Given the description of an element on the screen output the (x, y) to click on. 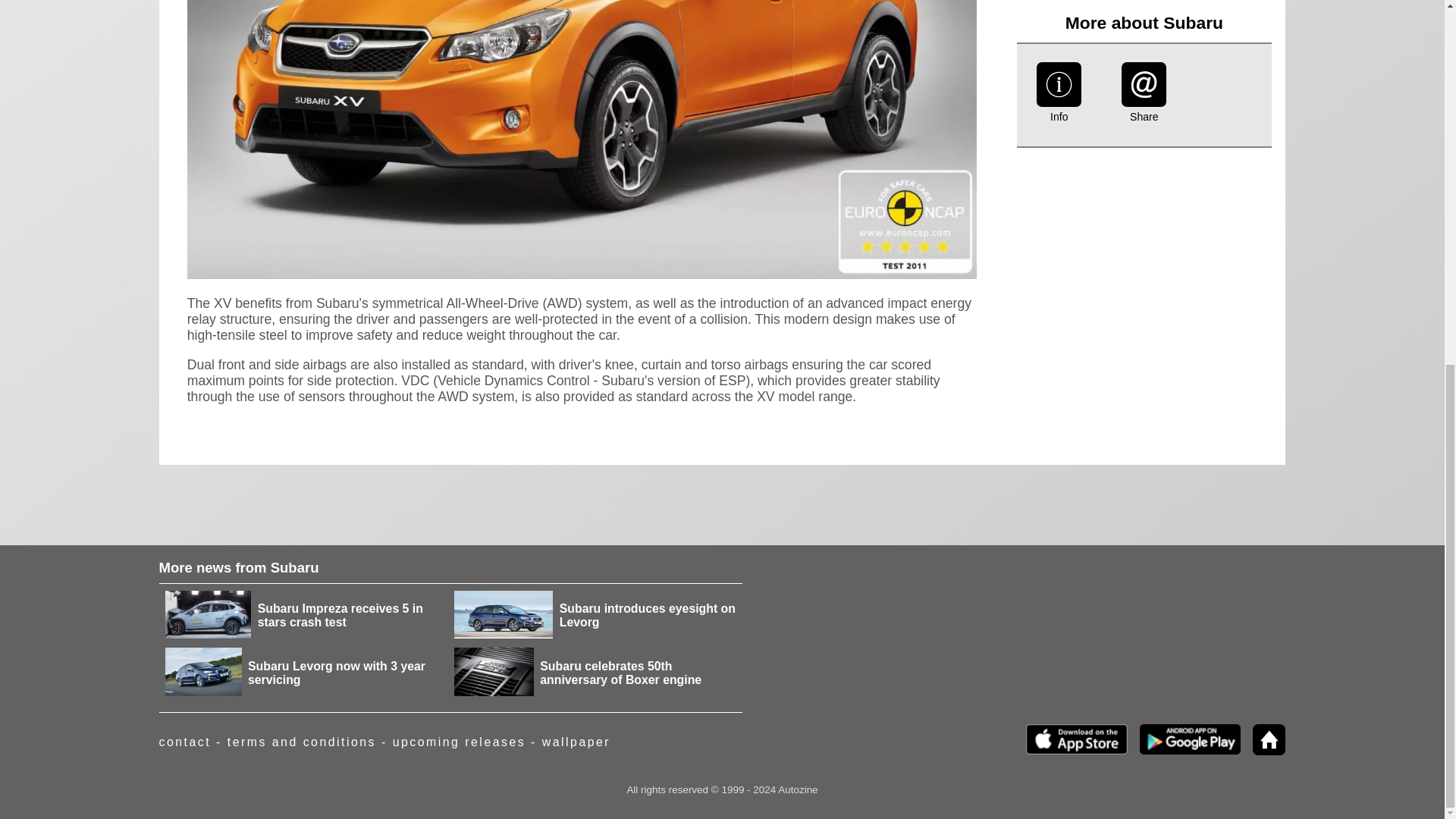
Click for slideshow (581, 273)
Advertisement (1143, 53)
home (1262, 750)
